Given the description of an element on the screen output the (x, y) to click on. 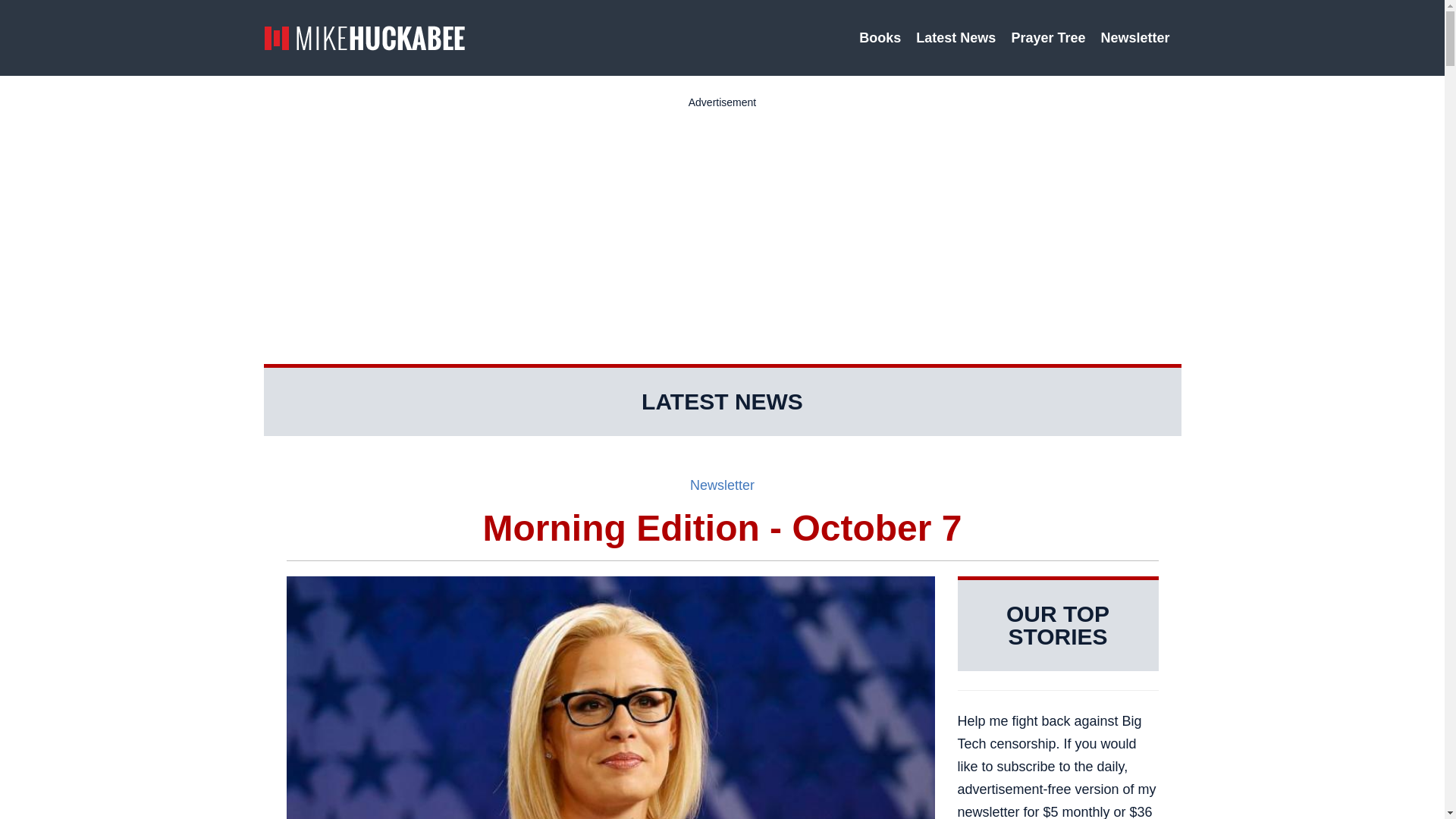
Newsletter (722, 485)
Latest News (955, 38)
Books (879, 38)
Morning Edition - October 7 (722, 528)
Prayer Tree (1048, 38)
Newsletter (1136, 38)
